Given the description of an element on the screen output the (x, y) to click on. 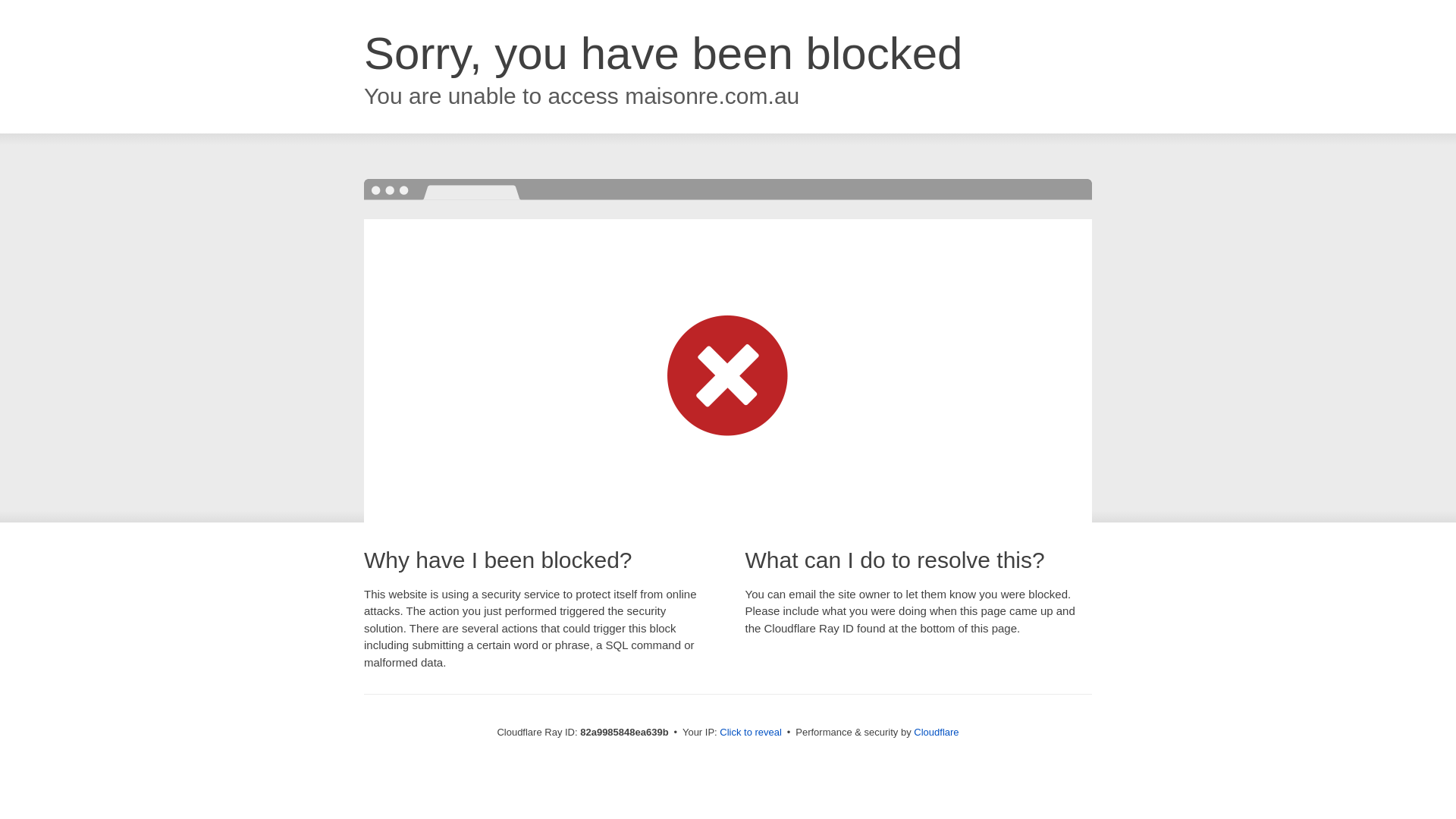
Click to reveal Element type: text (750, 732)
Cloudflare Element type: text (935, 731)
